Given the description of an element on the screen output the (x, y) to click on. 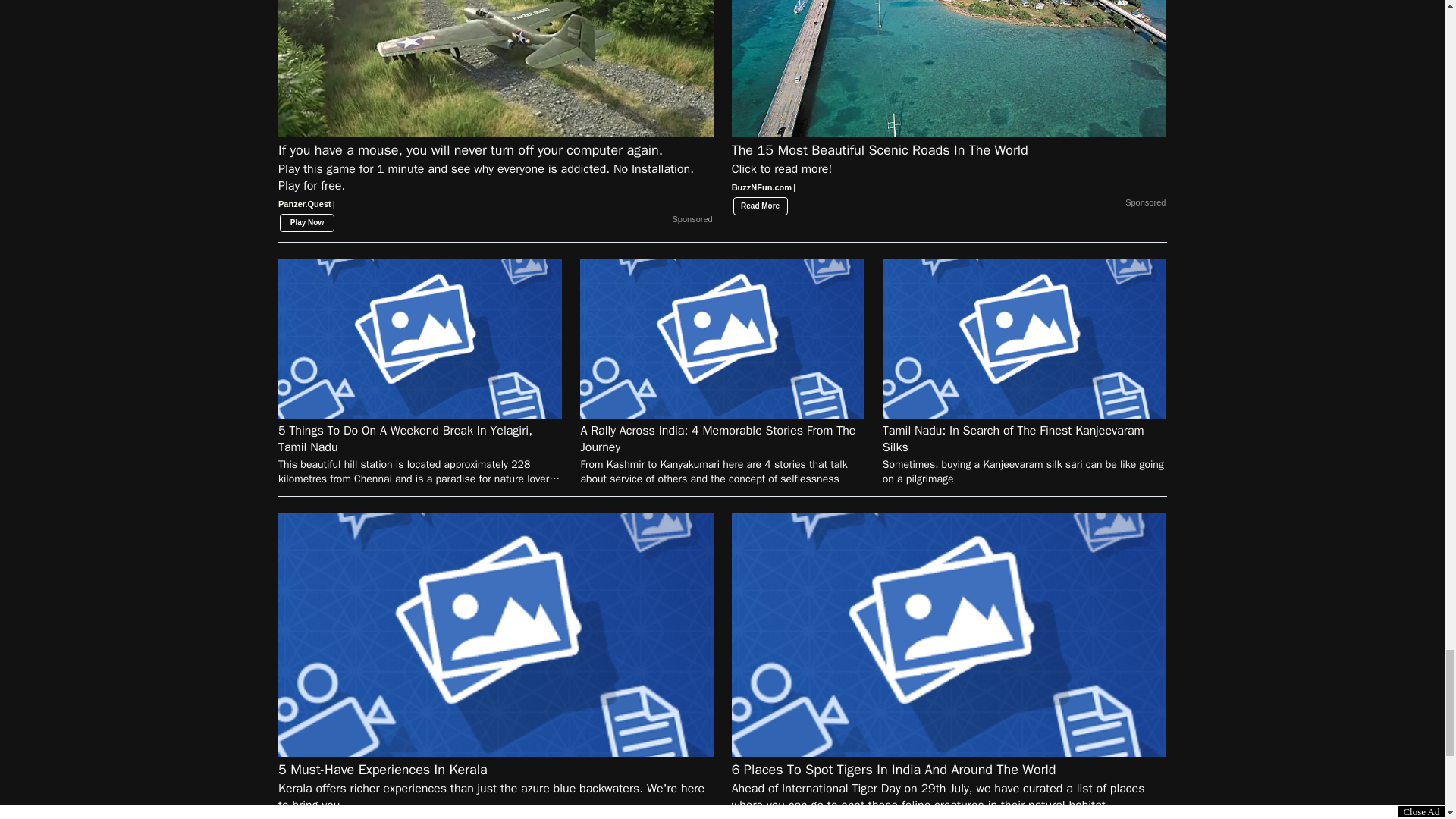
The 15 Most Beautiful Scenic Roads In The World (949, 173)
